Given the description of an element on the screen output the (x, y) to click on. 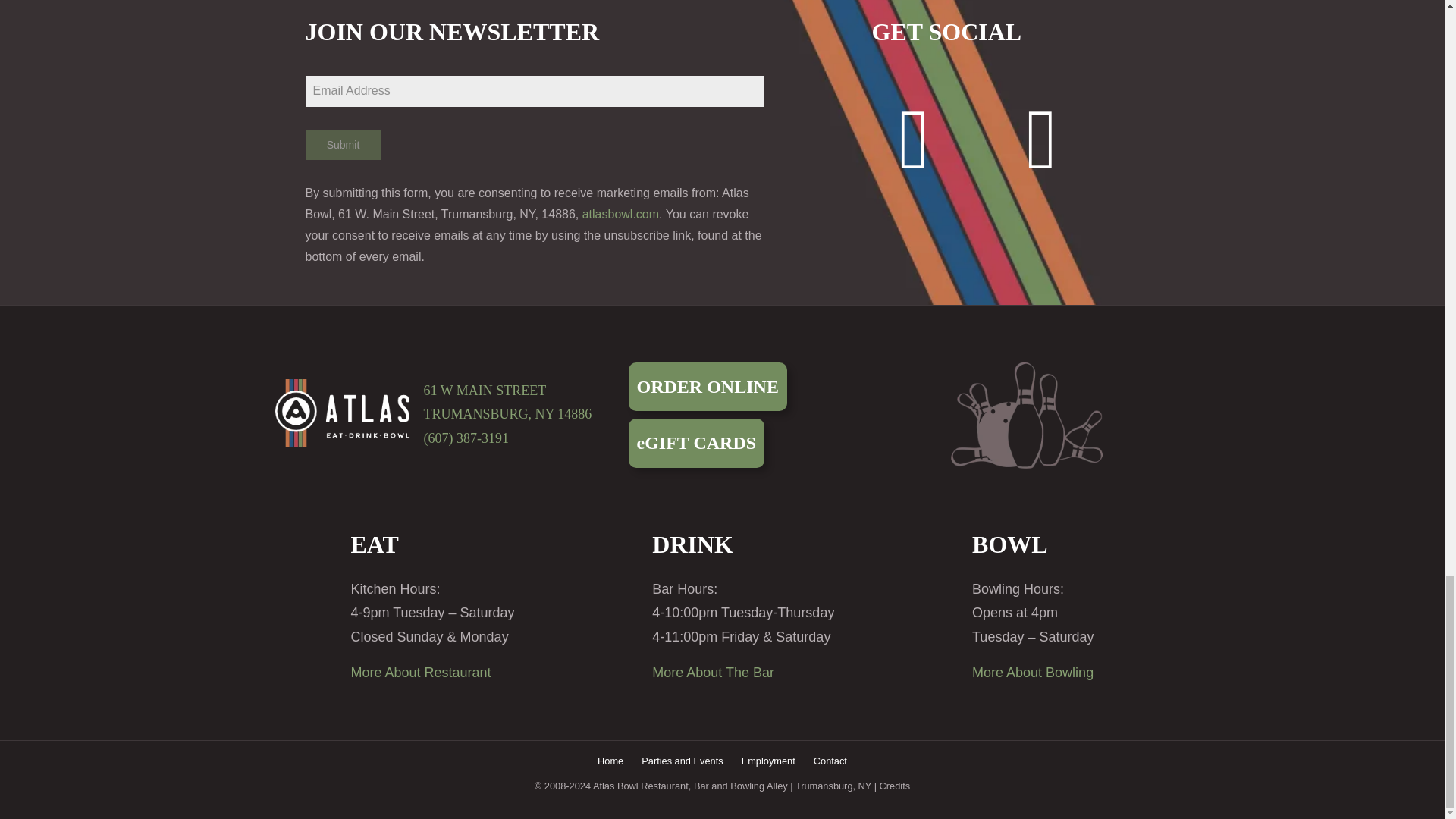
Credits (895, 785)
Home (609, 760)
Submit (342, 144)
TRUMANSBURG, NY 14886 (507, 413)
eGIFT CARDS (695, 442)
More About Restaurant (420, 672)
ORDER ONLINE (706, 386)
61 W MAIN STREET (484, 390)
Employment (767, 760)
Parties and Events (682, 760)
